Given the description of an element on the screen output the (x, y) to click on. 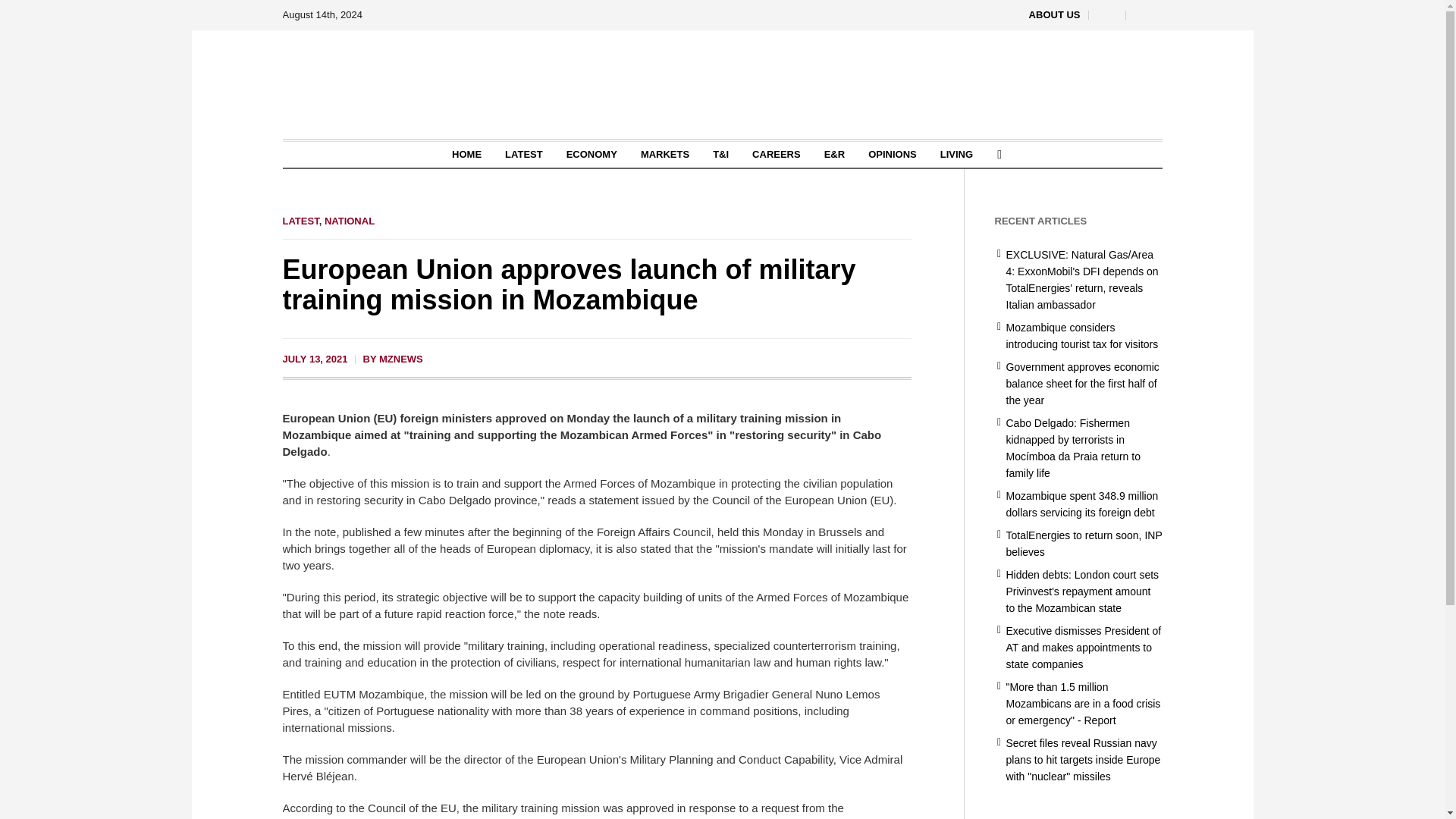
Mozambique considers introducing tourist tax for visitors (1081, 335)
LATEST (300, 220)
Posts by MZNews (400, 358)
CAREERS (776, 154)
ECONOMY (591, 154)
OPINIONS (892, 154)
LIVING (956, 154)
LATEST (523, 154)
